Given the description of an element on the screen output the (x, y) to click on. 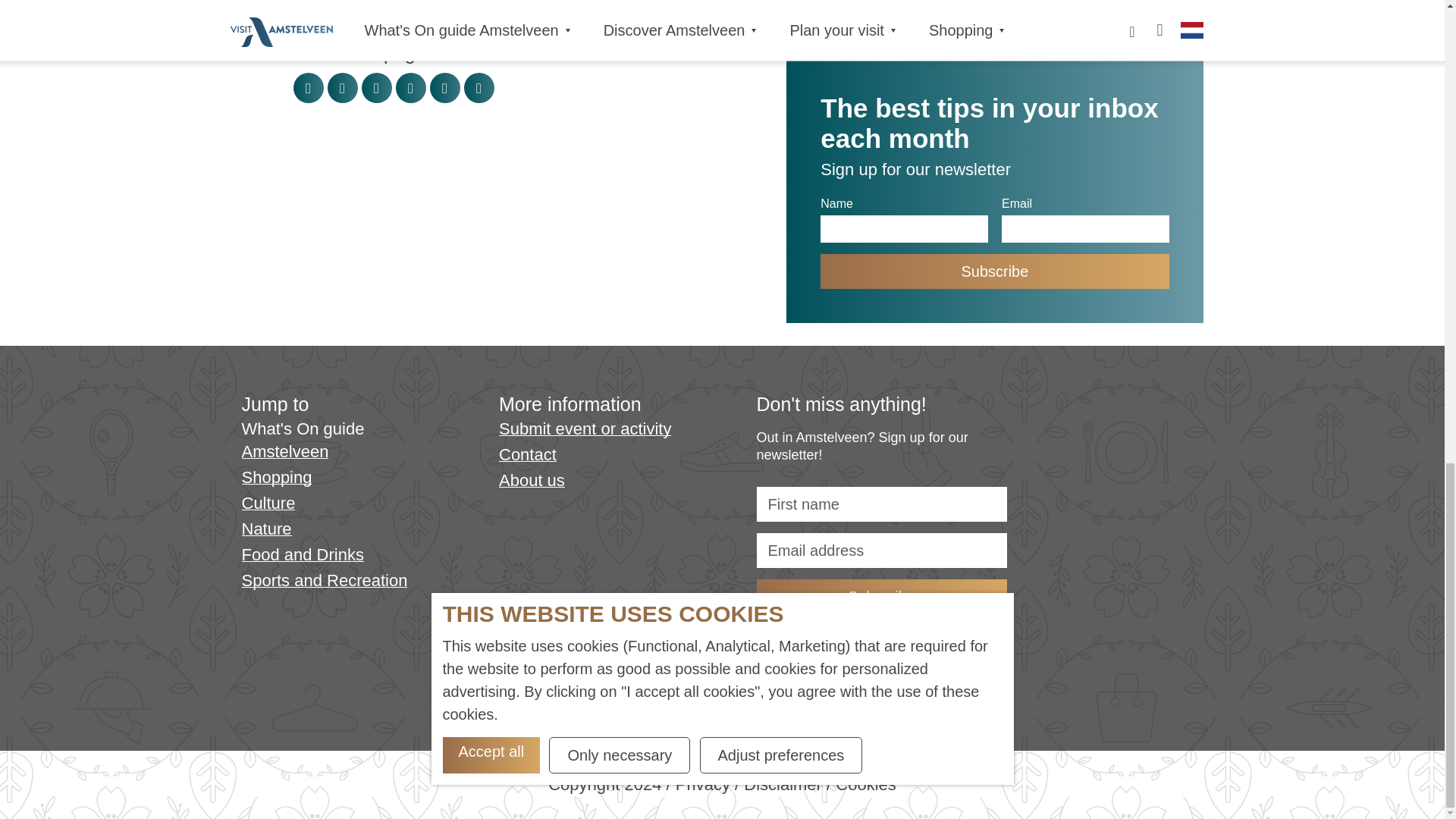
Subscribe (882, 596)
Share this page on WhatsApp (479, 87)
Subscribe (995, 271)
Share this page on X (376, 87)
Share this page on LinkedIn (411, 87)
Share this page on Facebook (307, 87)
Share this page on Pinterest (342, 87)
Share this page on e-mail (444, 87)
